Given the description of an element on the screen output the (x, y) to click on. 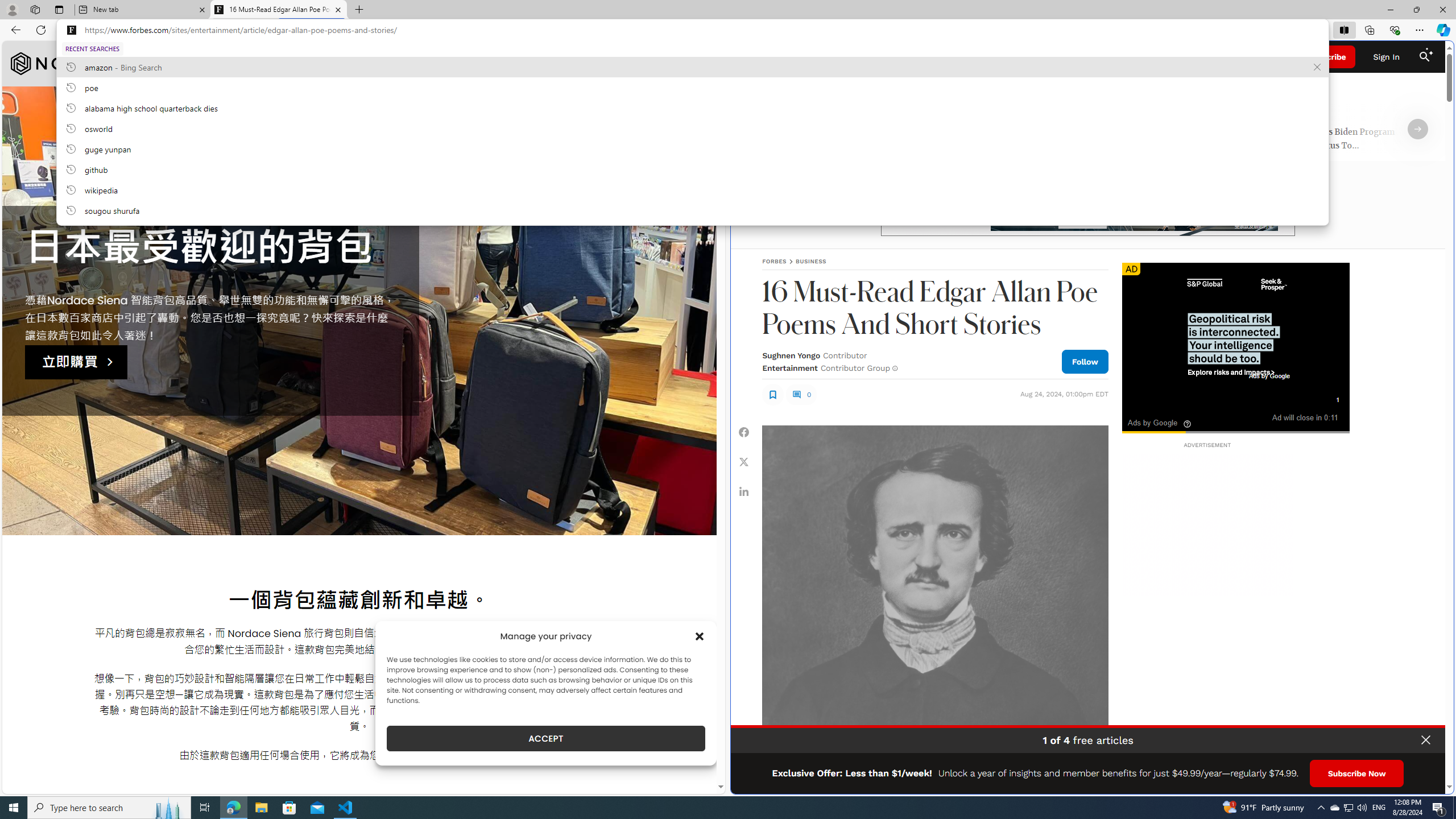
sougou shurufa, recent searches from history (691, 209)
Subscribe (1326, 56)
Open Navigation Menu (750, 56)
Follow Author (1084, 360)
wikipedia, recent searches from history (691, 189)
Subscribe To Newsletters (826, 56)
Class: fs-icon fs-icon--arrow-right (1417, 129)
Arrow Right (1417, 129)
Remove suggestion (1316, 66)
Unmute (m) (1159, 416)
Privacy (1416, 781)
